Given the description of an element on the screen output the (x, y) to click on. 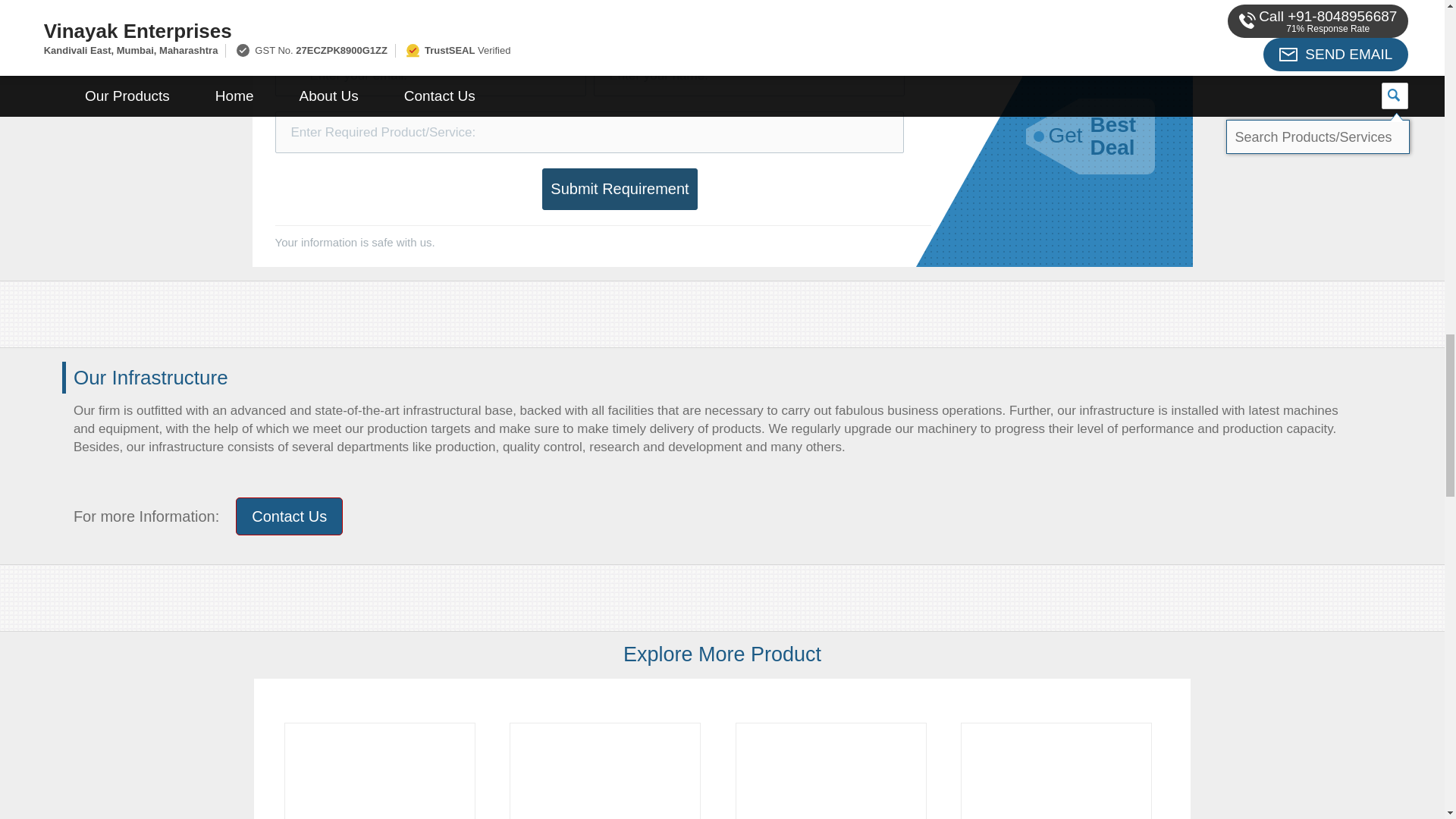
Enter your name: (748, 75)
Enter your email: (430, 75)
Submit Requirement (619, 188)
Aluminum Venetian Blind (605, 771)
Roman Blind Curtain (829, 771)
PVC Window Roller Blind (379, 771)
Outdoor Pvc Chick Blinds (1055, 771)
Submit Requirement (619, 188)
